Given the description of an element on the screen output the (x, y) to click on. 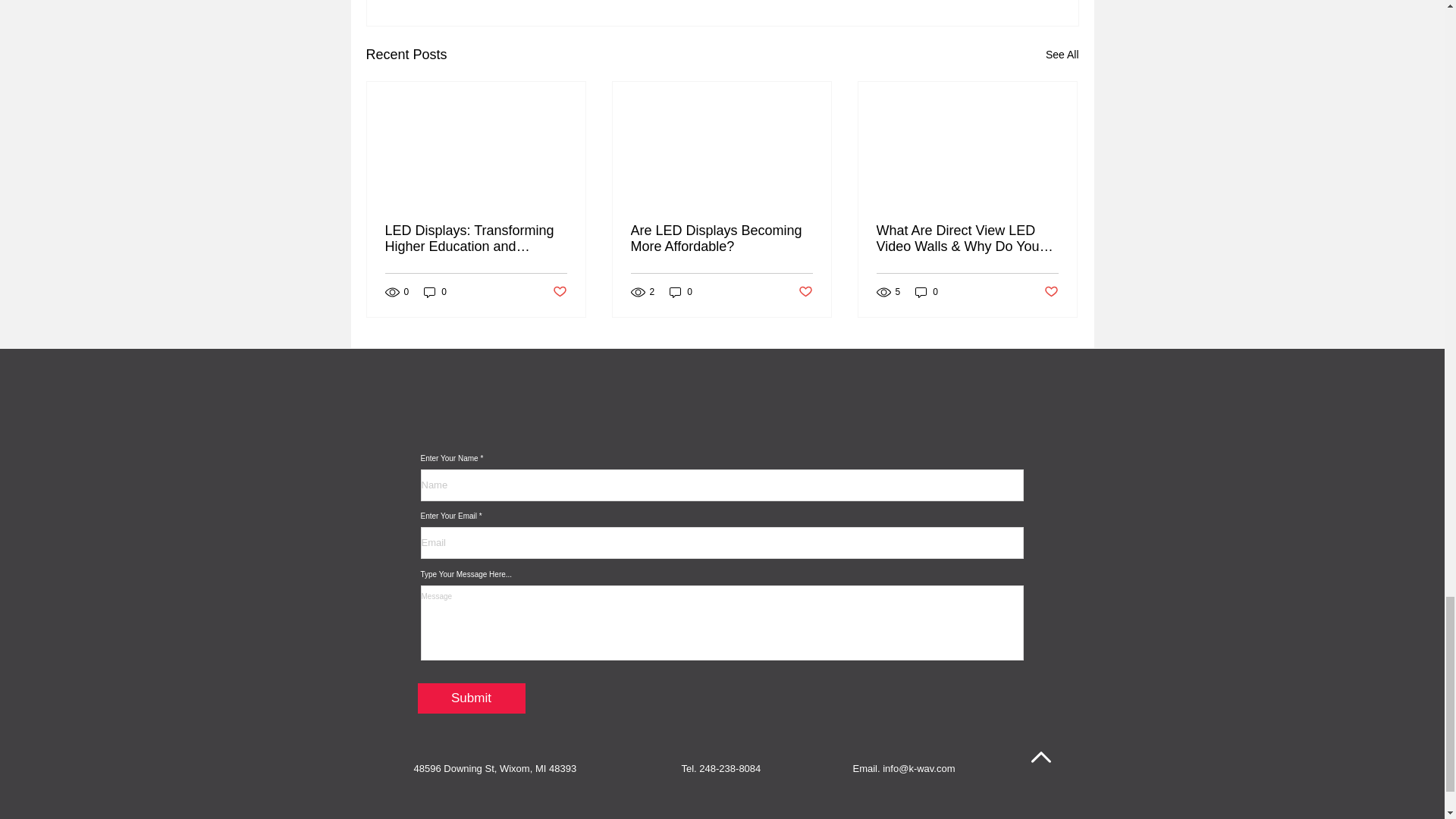
0 (681, 292)
Post not marked as liked (558, 292)
Are LED Displays Becoming More Affordable? (721, 238)
0 (435, 292)
See All (1061, 55)
